Given the description of an element on the screen output the (x, y) to click on. 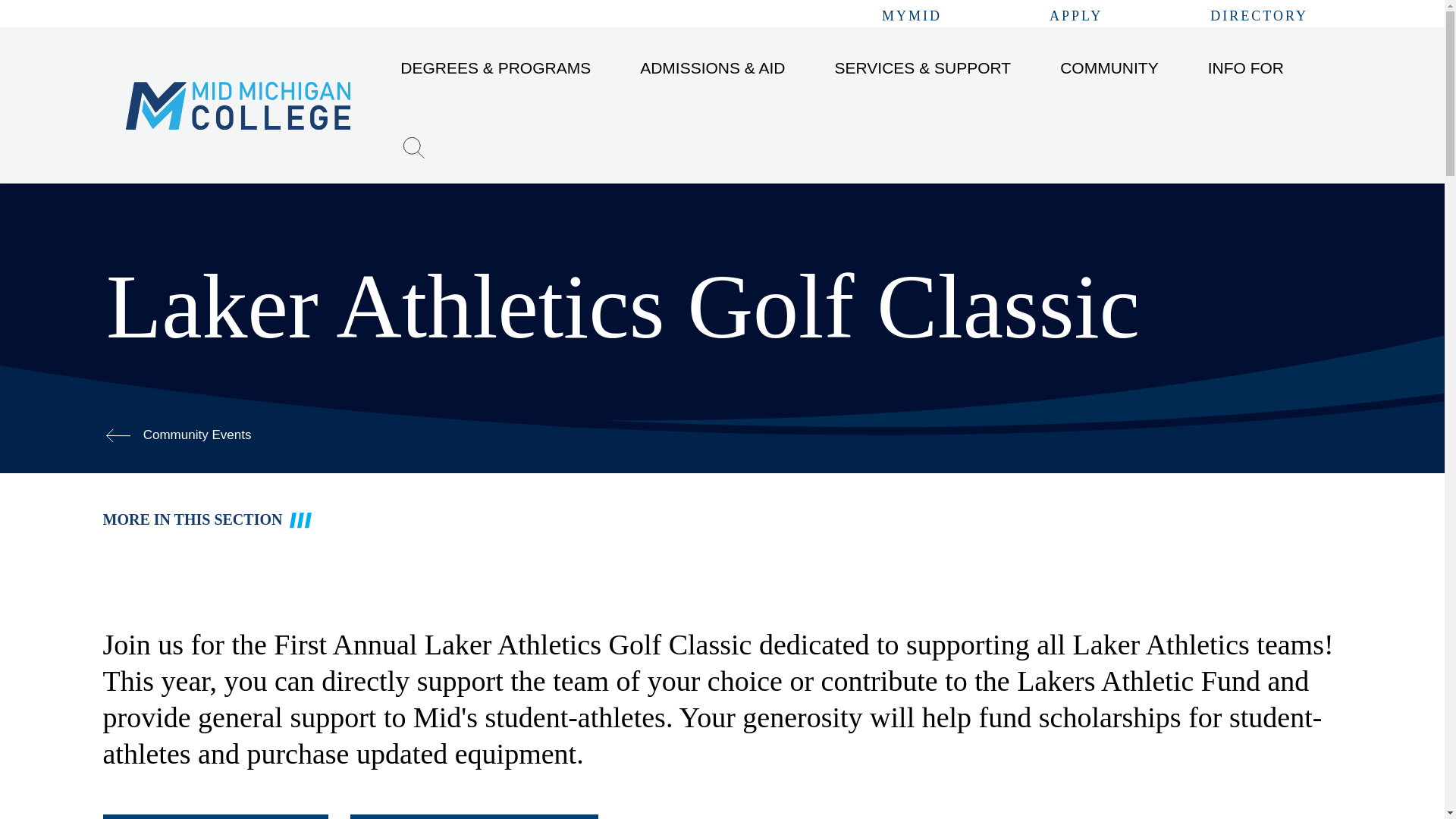
logo (237, 105)
APPLY (1075, 16)
MYMID (912, 16)
DIRECTORY (1258, 16)
